Given the description of an element on the screen output the (x, y) to click on. 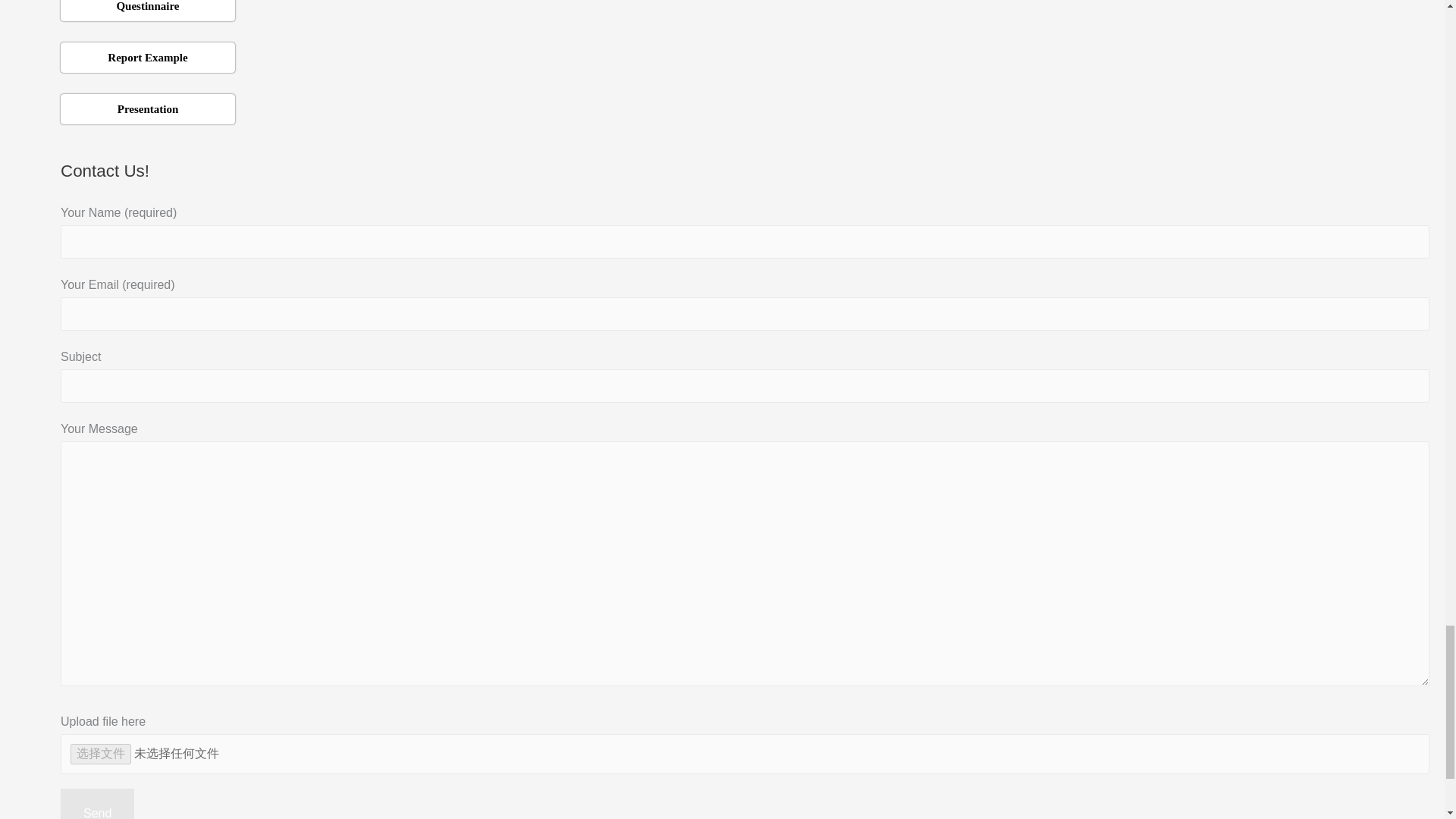
Questinnaire (147, 10)
Send (97, 803)
Send (97, 803)
Report Example (147, 57)
Download our presentation (147, 109)
Presentation (147, 109)
See example of our report! (147, 57)
Please, fill and submit through the contact form. (147, 10)
